Given the description of an element on the screen output the (x, y) to click on. 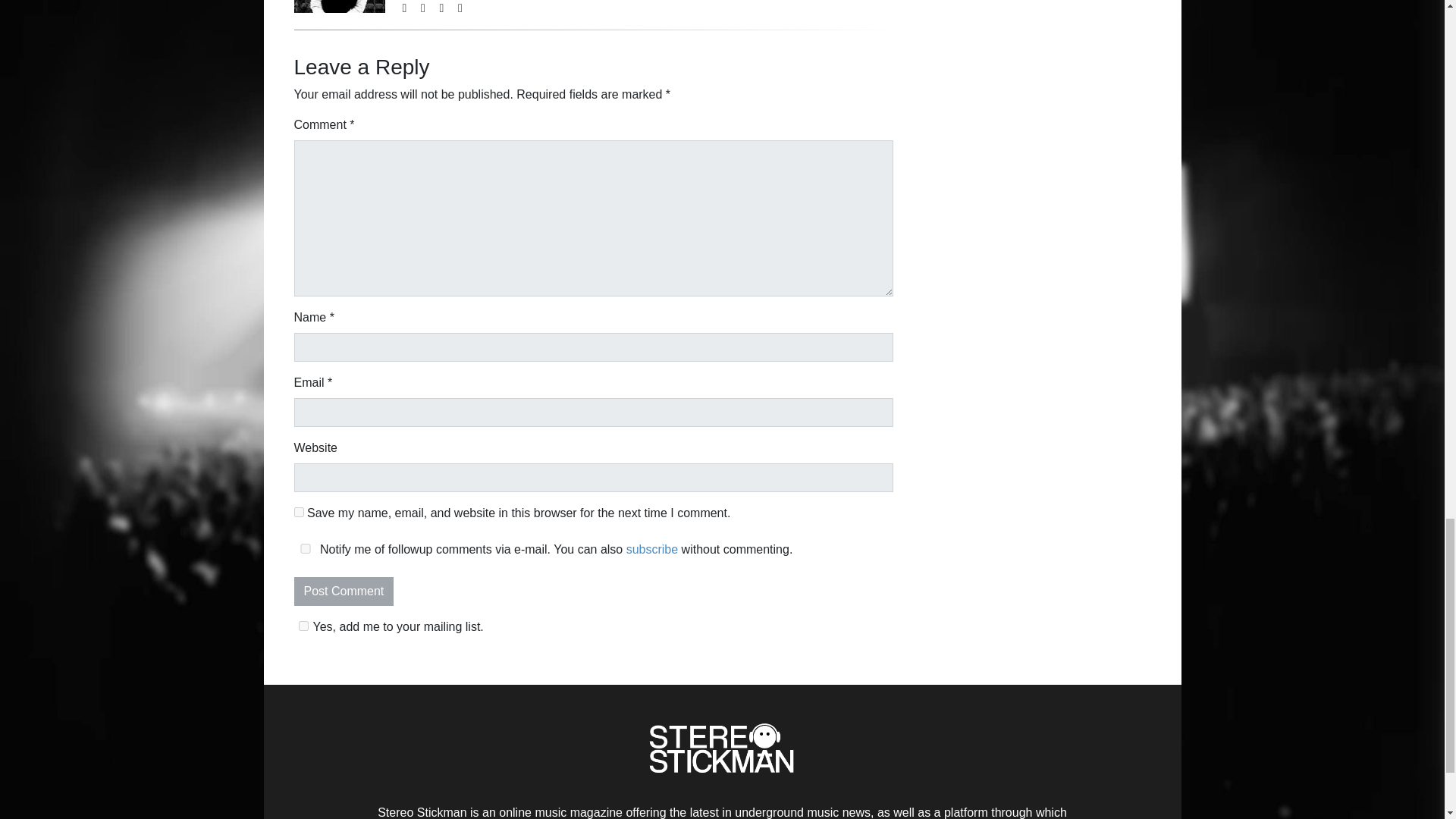
Post Comment (344, 591)
yes (305, 548)
Post Comment (344, 591)
subscribe (652, 549)
1 (303, 625)
yes (299, 511)
